Given the description of an element on the screen output the (x, y) to click on. 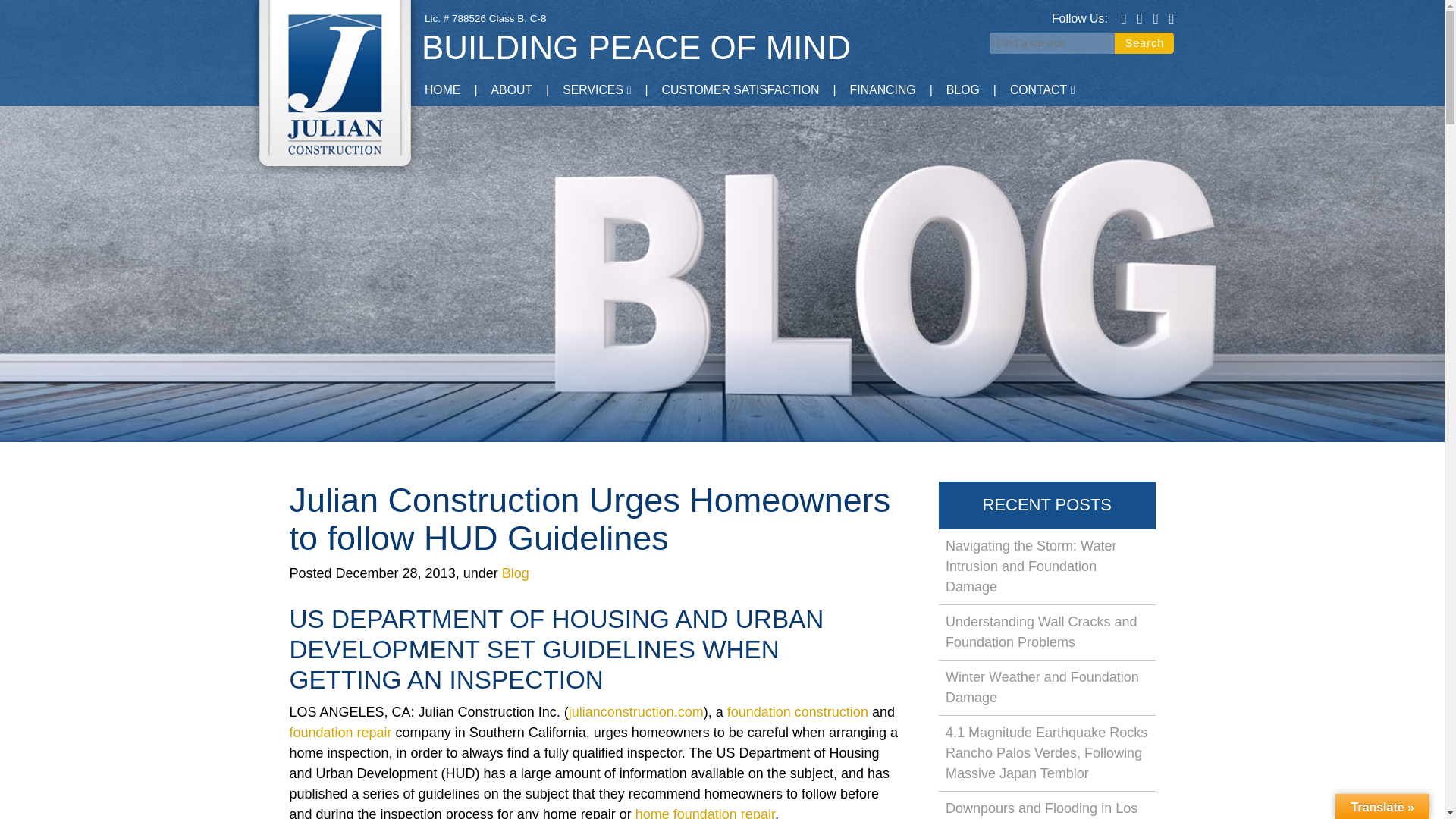
Downpours and Flooding in Los Angeles (1047, 805)
julianconstruction.com (636, 711)
ABOUT (512, 90)
HOME (442, 90)
foundation construction (796, 711)
Search (1144, 43)
FINANCING (882, 90)
CUSTOMER SATISFACTION (739, 90)
Navigating the Storm: Water Intrusion and Foundation Damage (1047, 566)
SERVICES (596, 90)
